Given the description of an element on the screen output the (x, y) to click on. 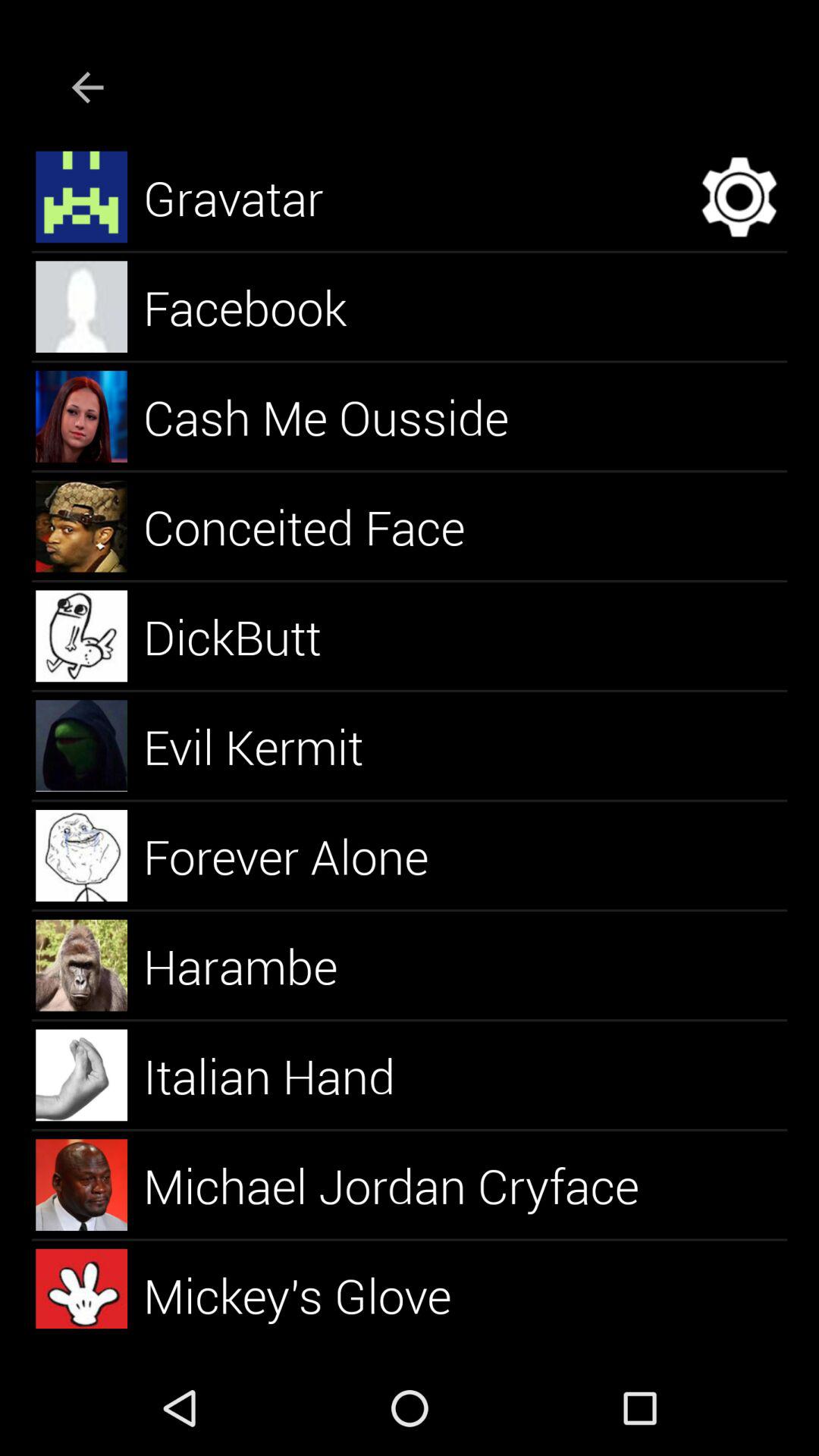
jump to the harambe (258, 964)
